Given the description of an element on the screen output the (x, y) to click on. 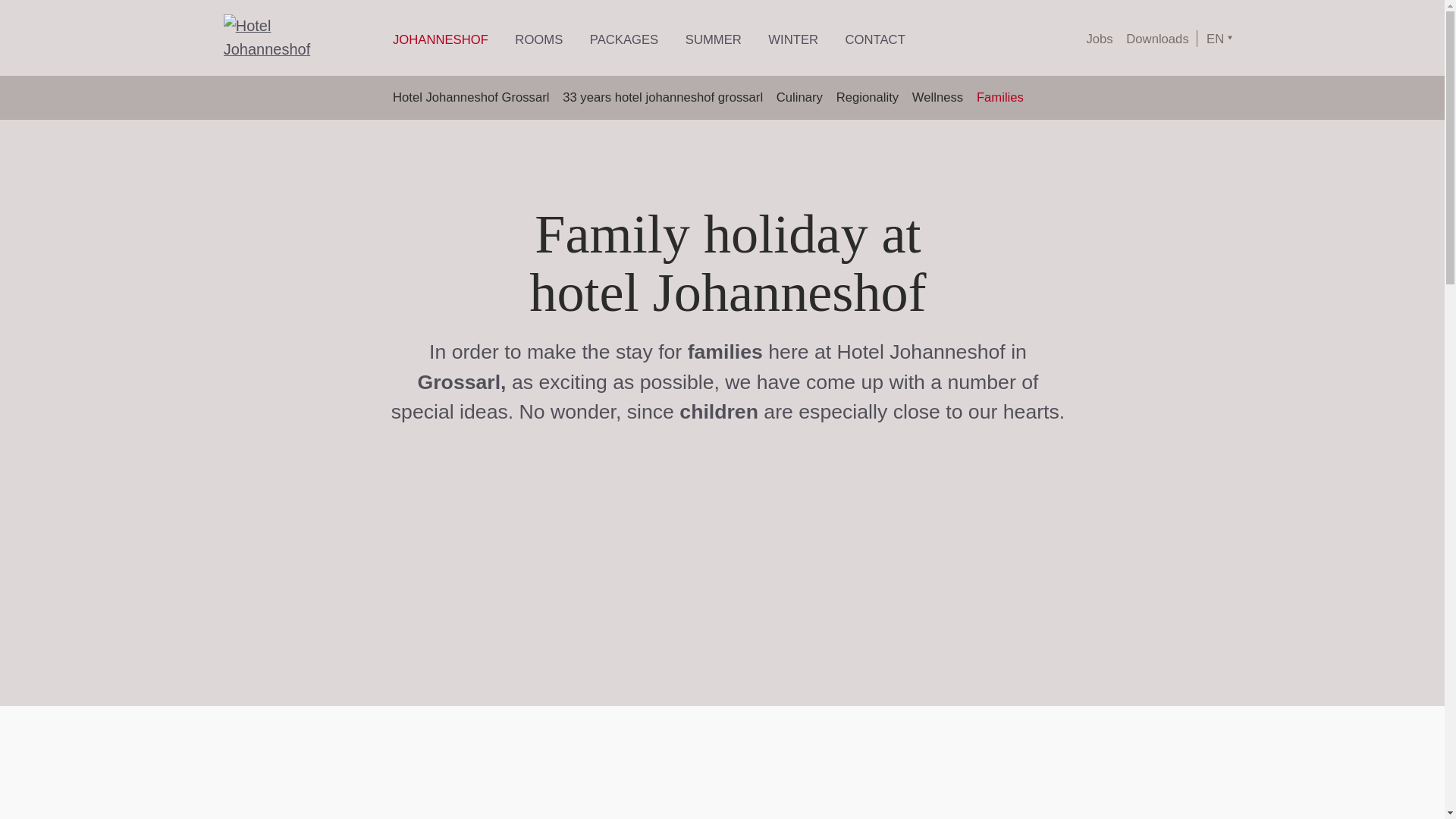
Summer (713, 38)
CONTACT (875, 38)
ROOMS (538, 38)
SUMMER (713, 38)
33 years hotel johanneshof grossarl (662, 96)
Culinary (799, 96)
Families (999, 96)
Hotel Johanneshof Grossarl (470, 96)
Hotel Johanneshof Grossarl (470, 96)
33 years hotel johanneshof grossarl (662, 96)
Families (999, 96)
Rooms (538, 38)
Johanneshof (440, 38)
Wellness (937, 96)
WINTER (793, 38)
